Given the description of an element on the screen output the (x, y) to click on. 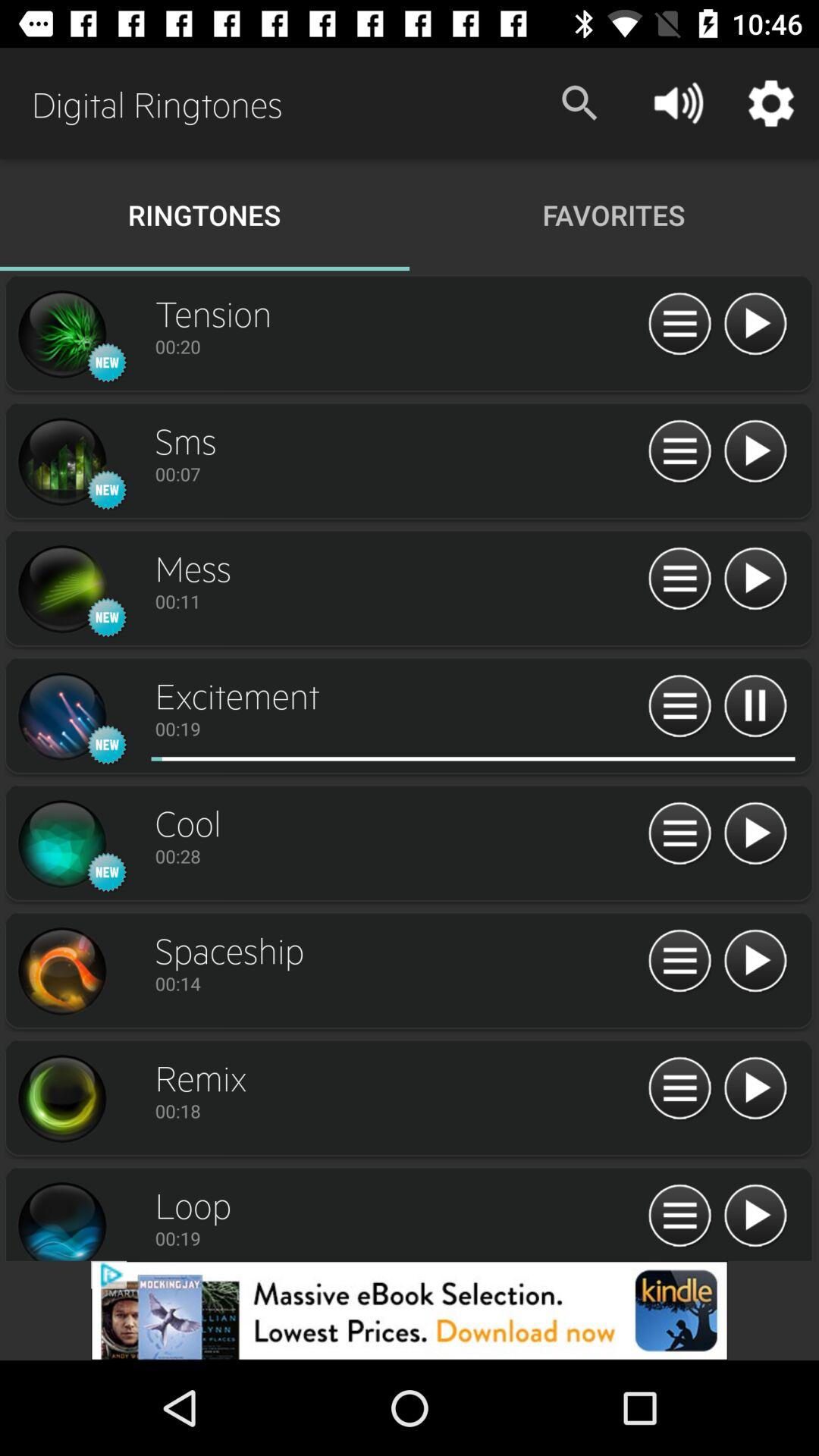
open details for ringtone (61, 1219)
